Given the description of an element on the screen output the (x, y) to click on. 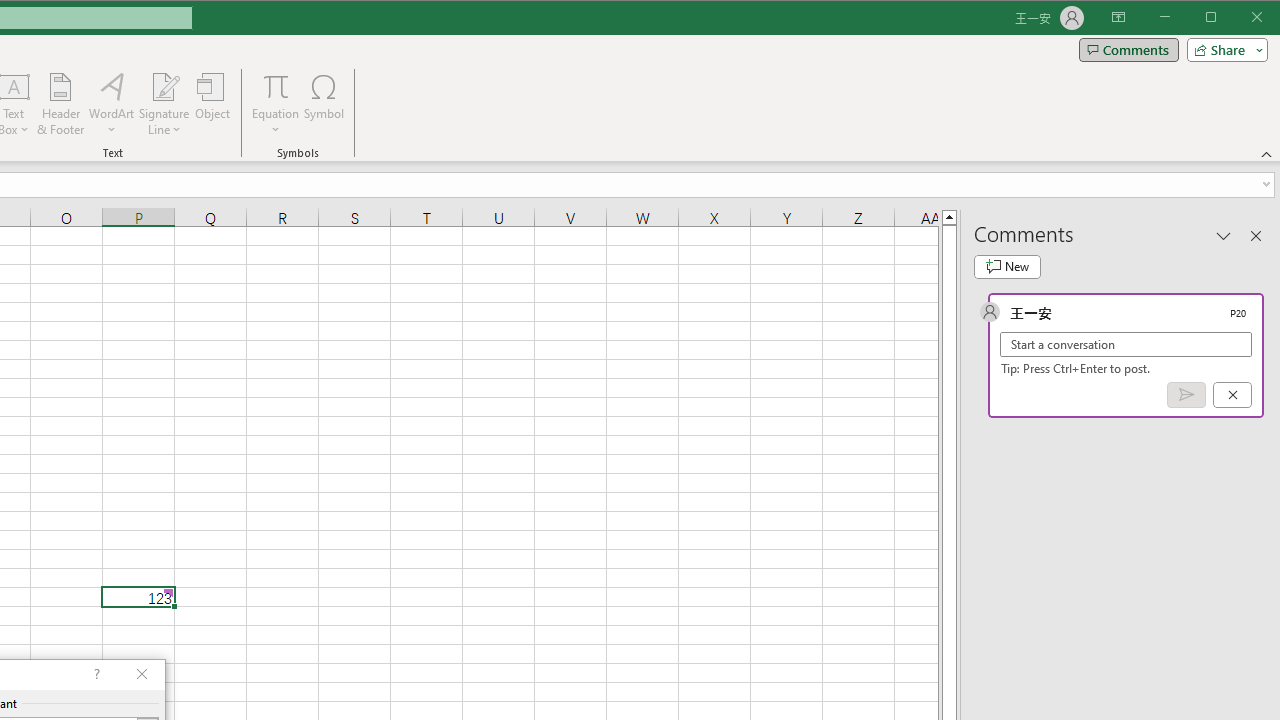
Post comment (Ctrl + Enter) (1186, 395)
Maximize (1239, 18)
WordArt (111, 104)
Object... (213, 104)
Start a conversation (1126, 344)
Equation (275, 86)
